Given the description of an element on the screen output the (x, y) to click on. 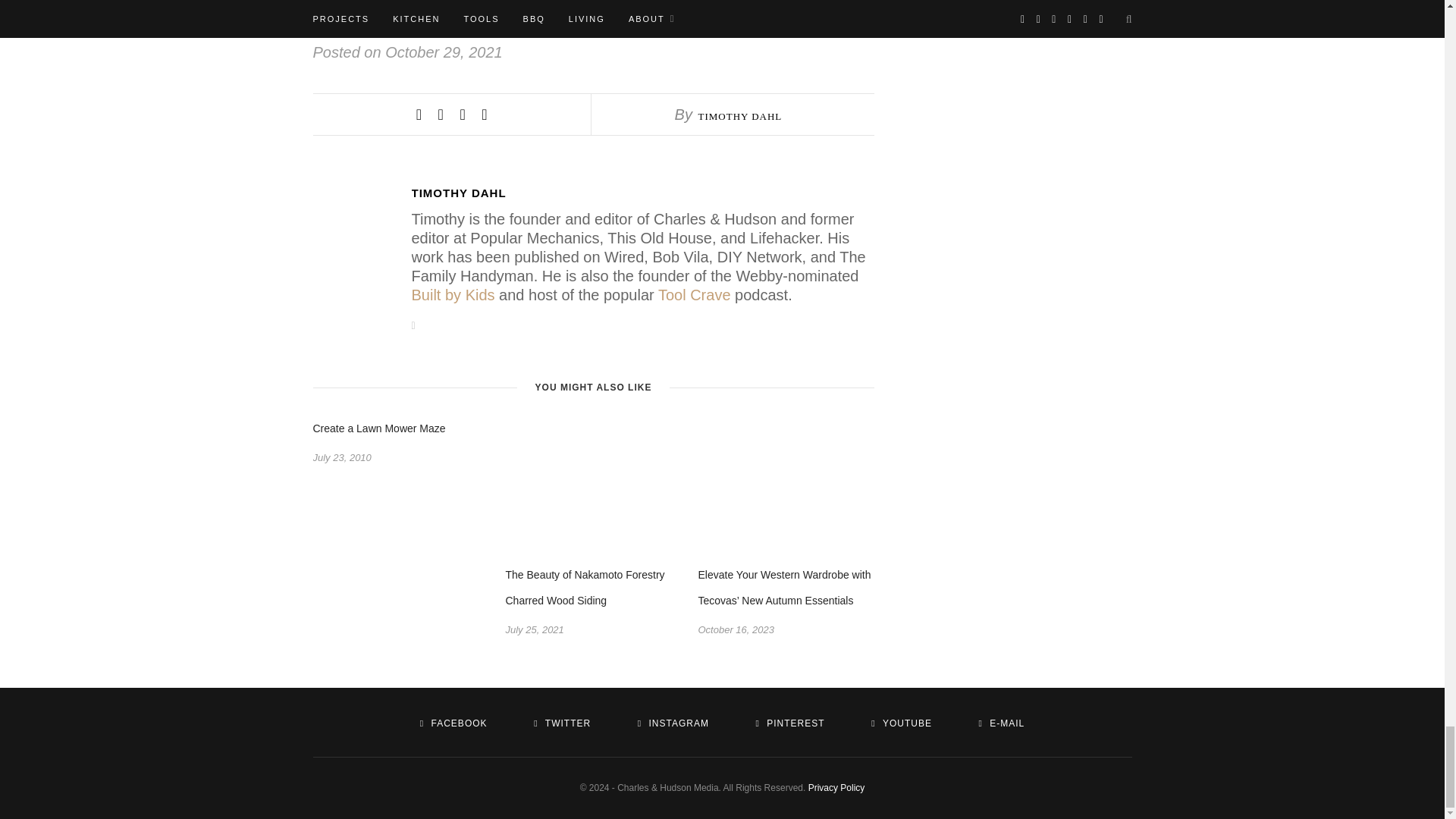
The Beauty of Nakamoto Forestry Charred Wood Siding (584, 587)
Posts by Timothy Dahl (739, 116)
Posts by Timothy Dahl (641, 192)
Create a Lawn Mower Maze (379, 428)
Yeti Trailhead Camp Chair Review 9 (593, 12)
Tool Crave (694, 294)
TIMOTHY DAHL (641, 192)
Built by Kids (452, 294)
TIMOTHY DAHL (739, 116)
